Given the description of an element on the screen output the (x, y) to click on. 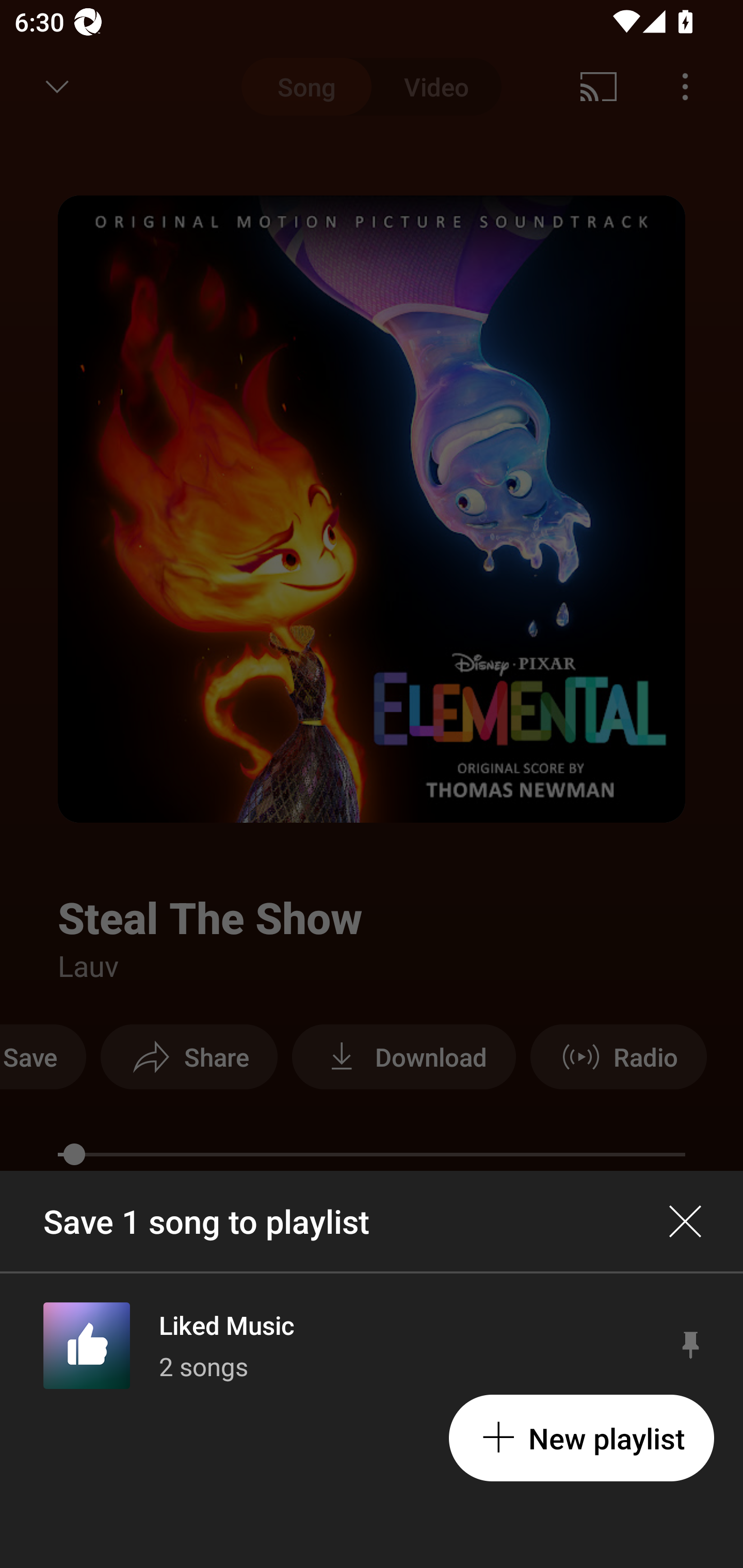
Close (685, 1221)
New playlist (581, 1437)
